Given the description of an element on the screen output the (x, y) to click on. 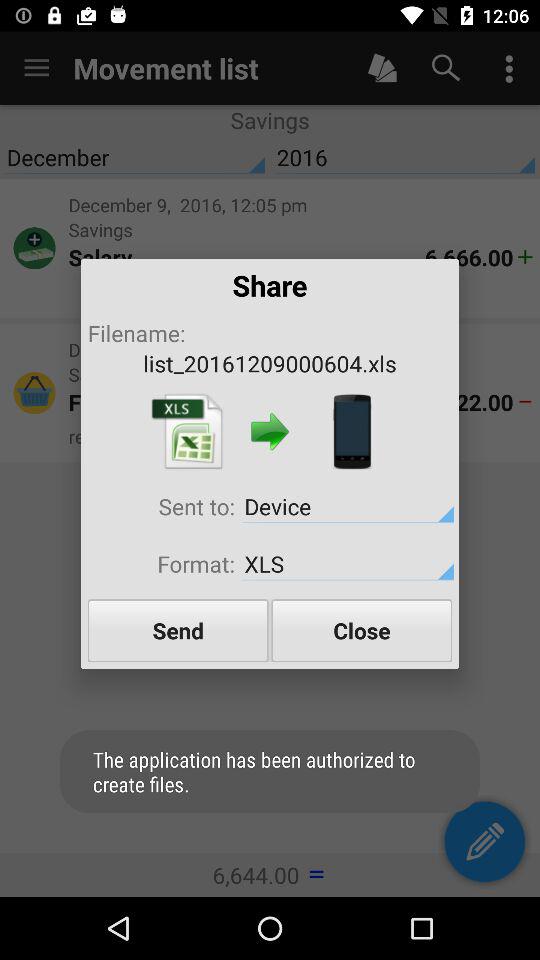
phone symbol (352, 431)
